Given the description of an element on the screen output the (x, y) to click on. 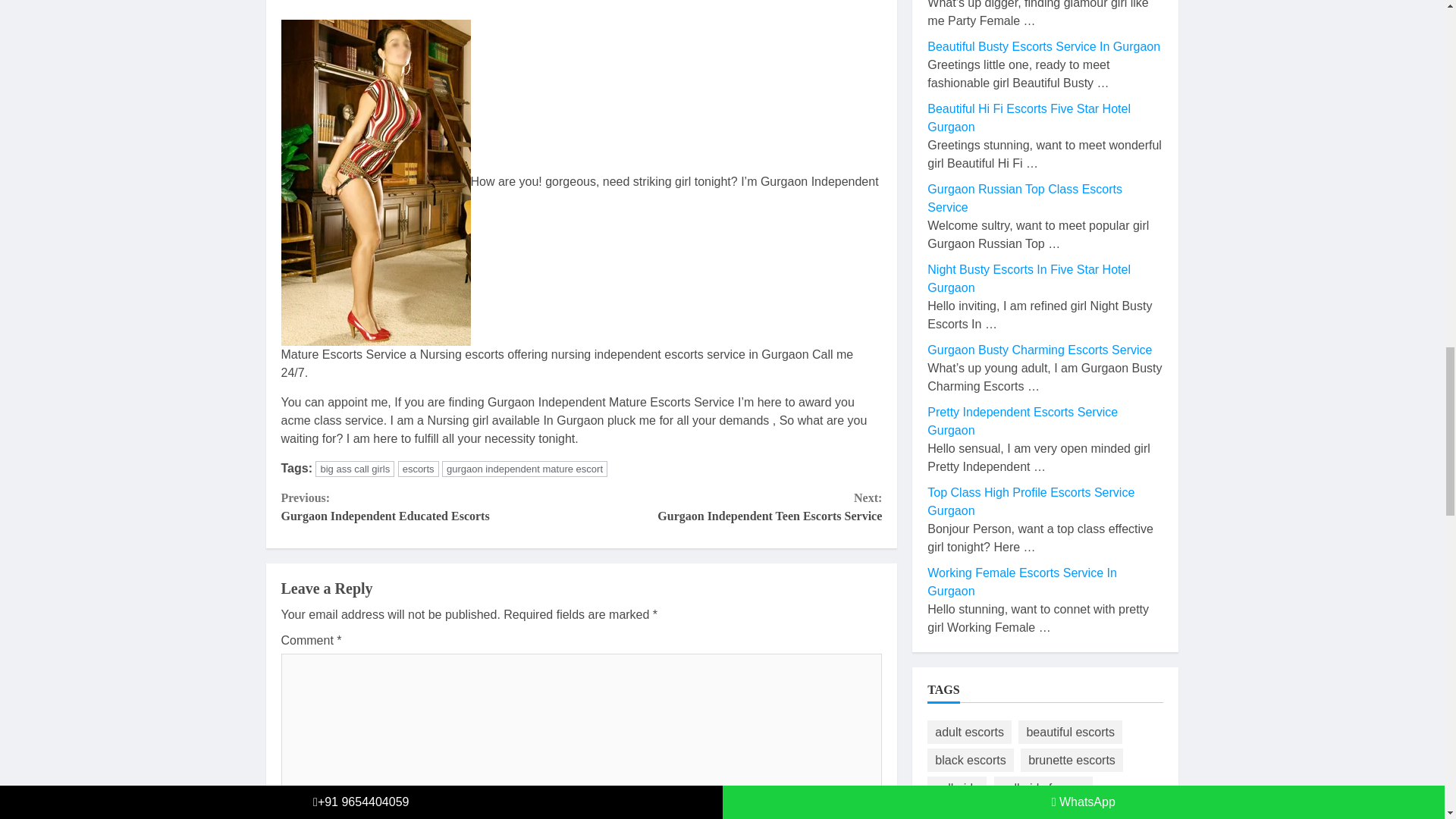
escorts (418, 468)
big ass call girls (354, 468)
gurgaon independent mature escort (524, 468)
